Given the description of an element on the screen output the (x, y) to click on. 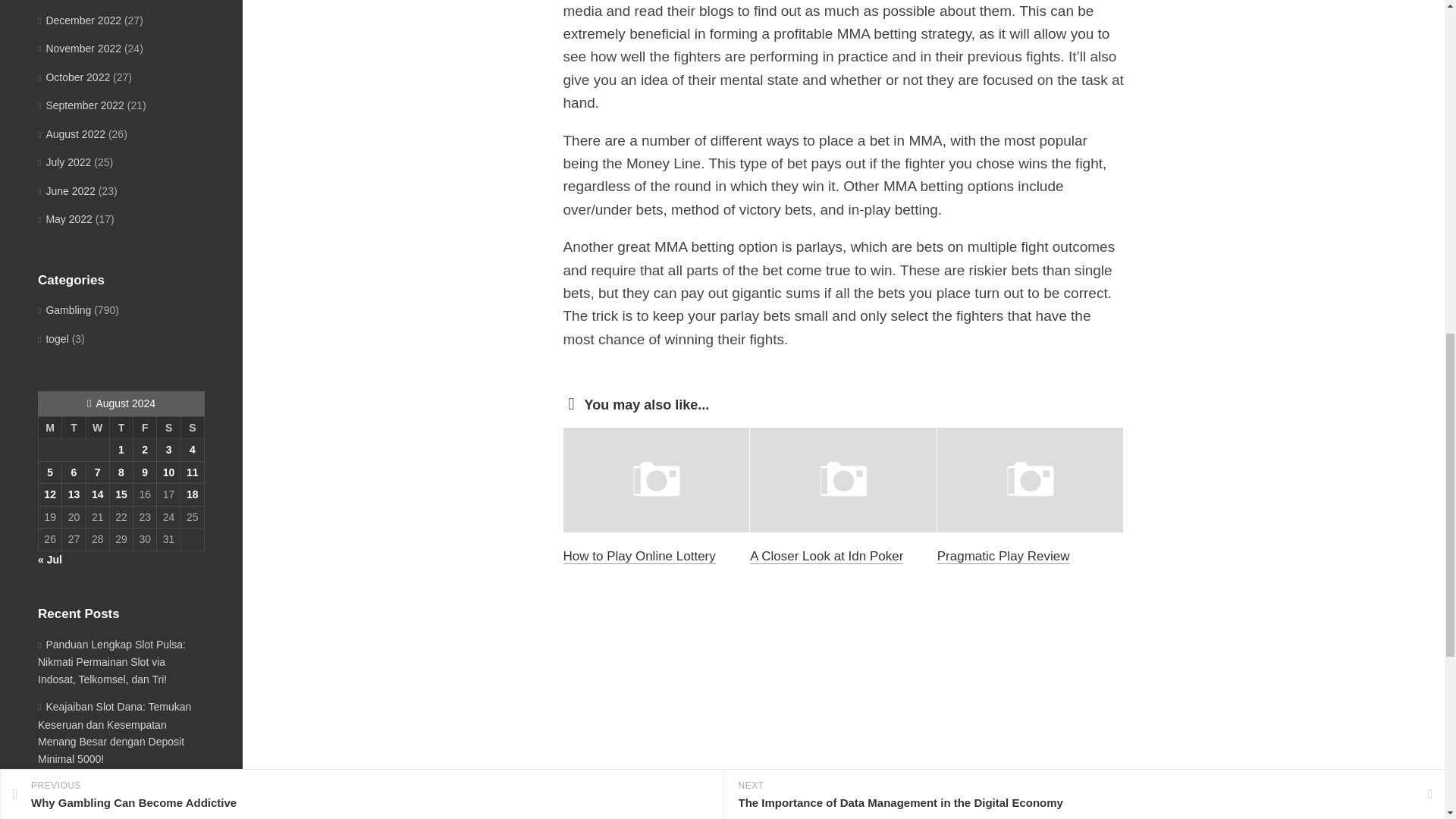
Tuesday (73, 427)
October 2022 (73, 77)
Sunday (191, 427)
Thursday (120, 427)
Monday (49, 427)
November 2022 (78, 48)
September 2022 (80, 105)
How to Play Online Lottery (638, 555)
Friday (145, 427)
Pragmatic Play Review (1003, 555)
